Given the description of an element on the screen output the (x, y) to click on. 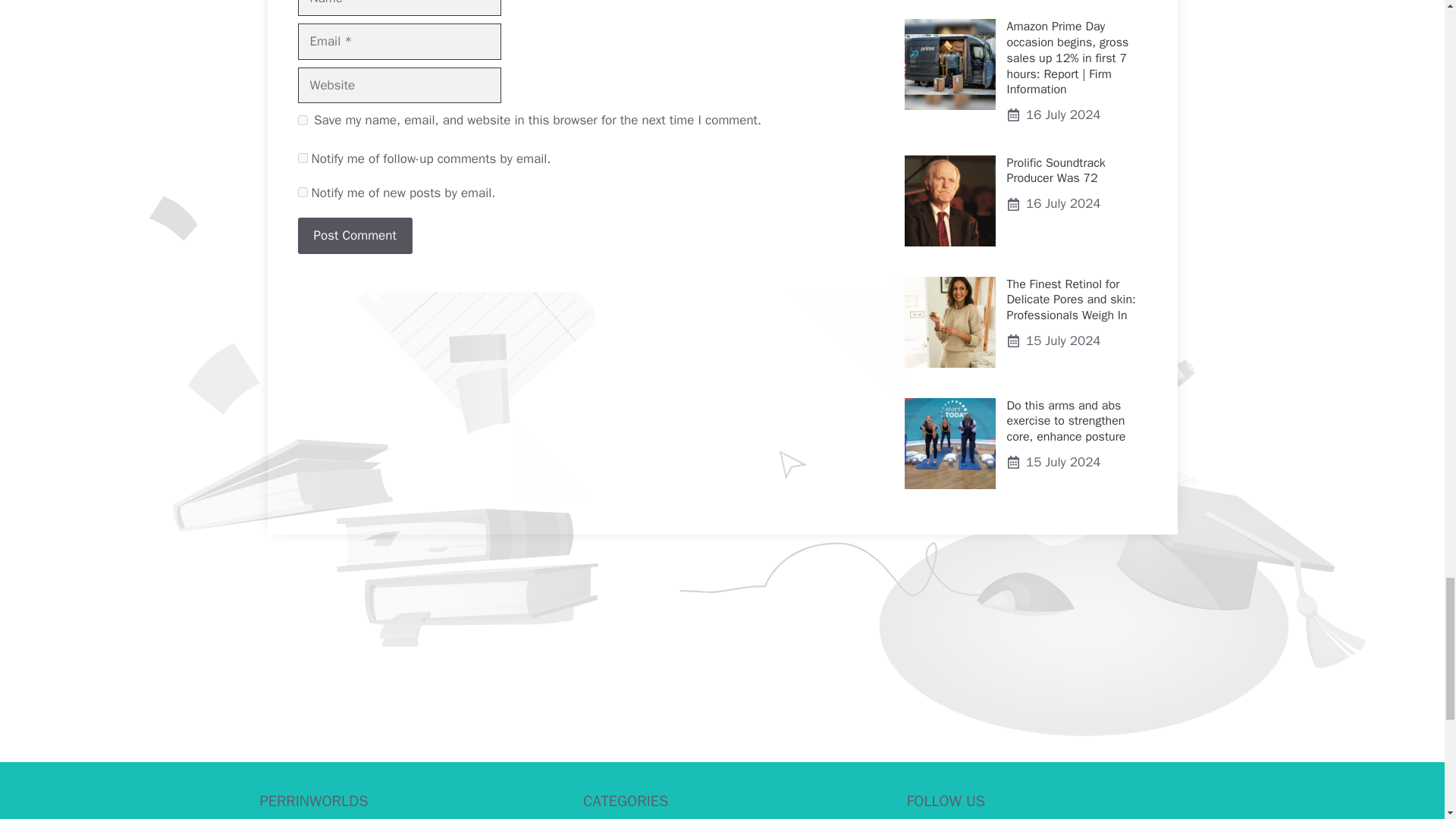
subscribe (302, 157)
subscribe (302, 192)
yes (302, 120)
Post Comment (354, 235)
